Given the description of an element on the screen output the (x, y) to click on. 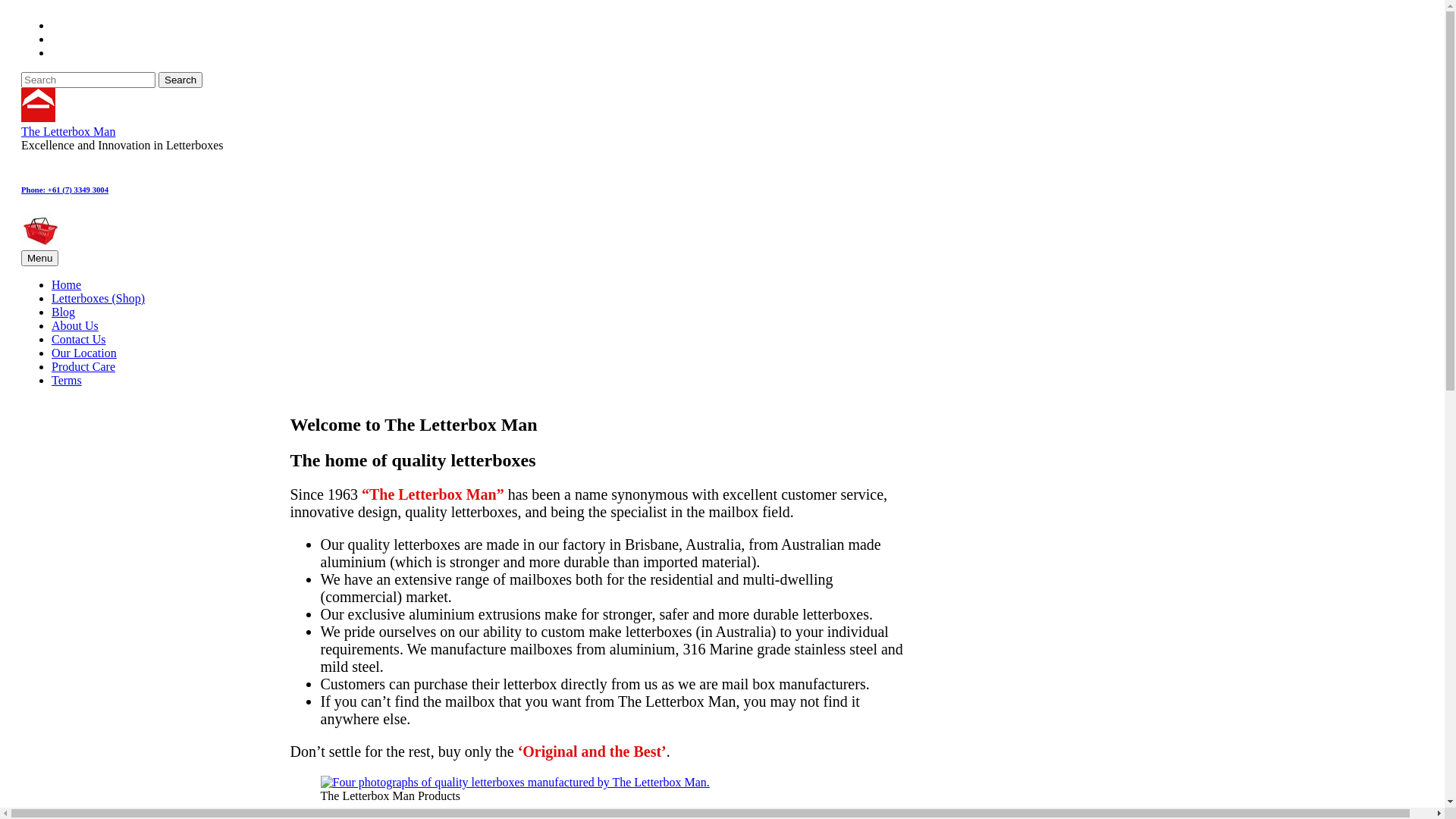
The Letterbox Man Element type: text (68, 131)
Phone: +61 (7) 3349 3004 Element type: text (64, 189)
Contact Us Element type: text (78, 338)
Search Element type: text (180, 79)
Skip to content Element type: text (5, 5)
Home Element type: text (66, 284)
Our Location Element type: text (83, 352)
Letterboxes (Shop) Element type: text (97, 297)
Blog Element type: text (63, 311)
Product Care Element type: text (83, 366)
Menu Element type: text (39, 258)
Search Element type: text (20, 18)
About Us Element type: text (74, 325)
Terms Element type: text (66, 379)
